Given the description of an element on the screen output the (x, y) to click on. 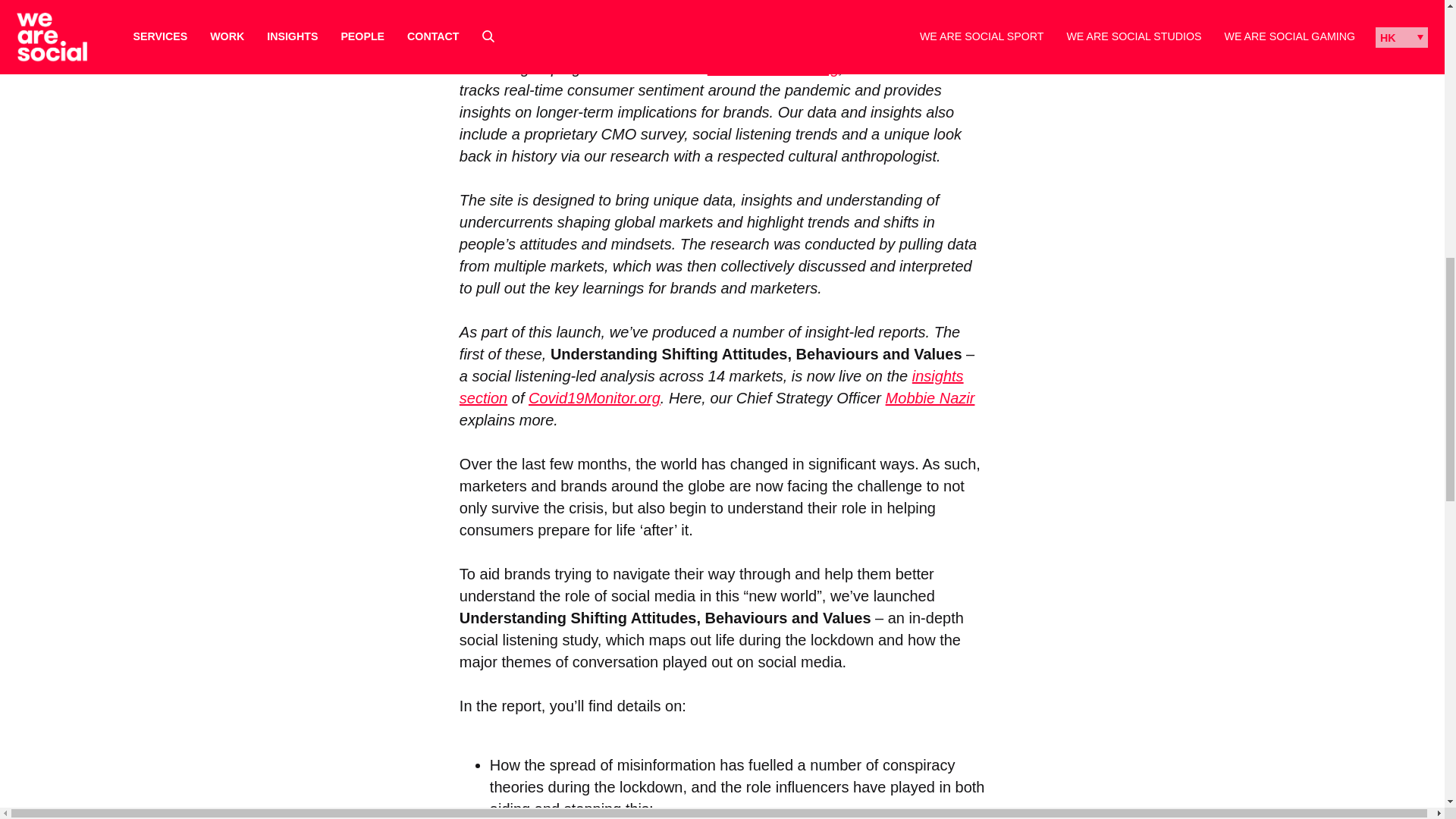
Mobbie Nazir (930, 397)
Covid19Monitor.org (594, 397)
insights section (711, 386)
Covid19Monitor.org (773, 67)
